Given the description of an element on the screen output the (x, y) to click on. 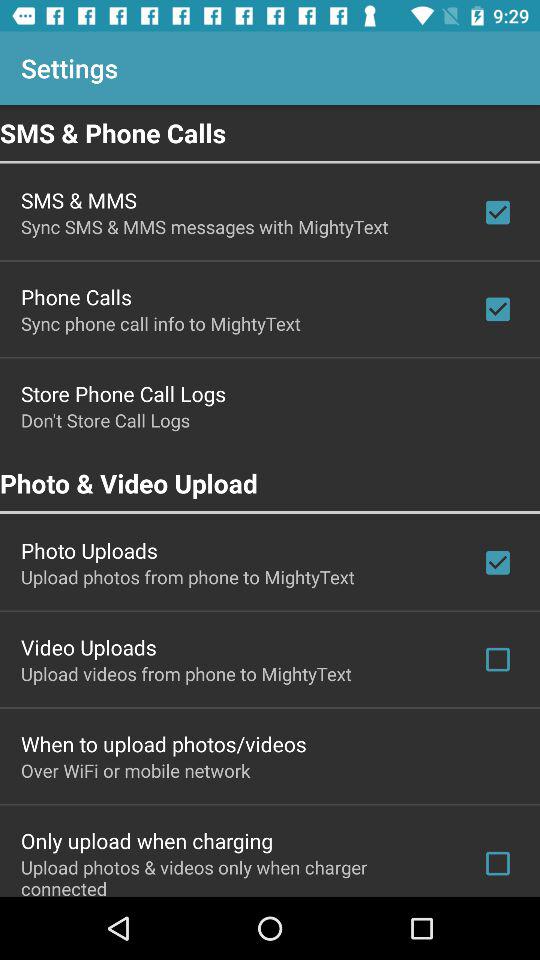
select the check box which is after photo uploads on the page (497, 562)
click on the check box which is to the right side of video uploads option (497, 659)
select the check box which is to the immediate right of only upload when charging (497, 863)
